Given the description of an element on the screen output the (x, y) to click on. 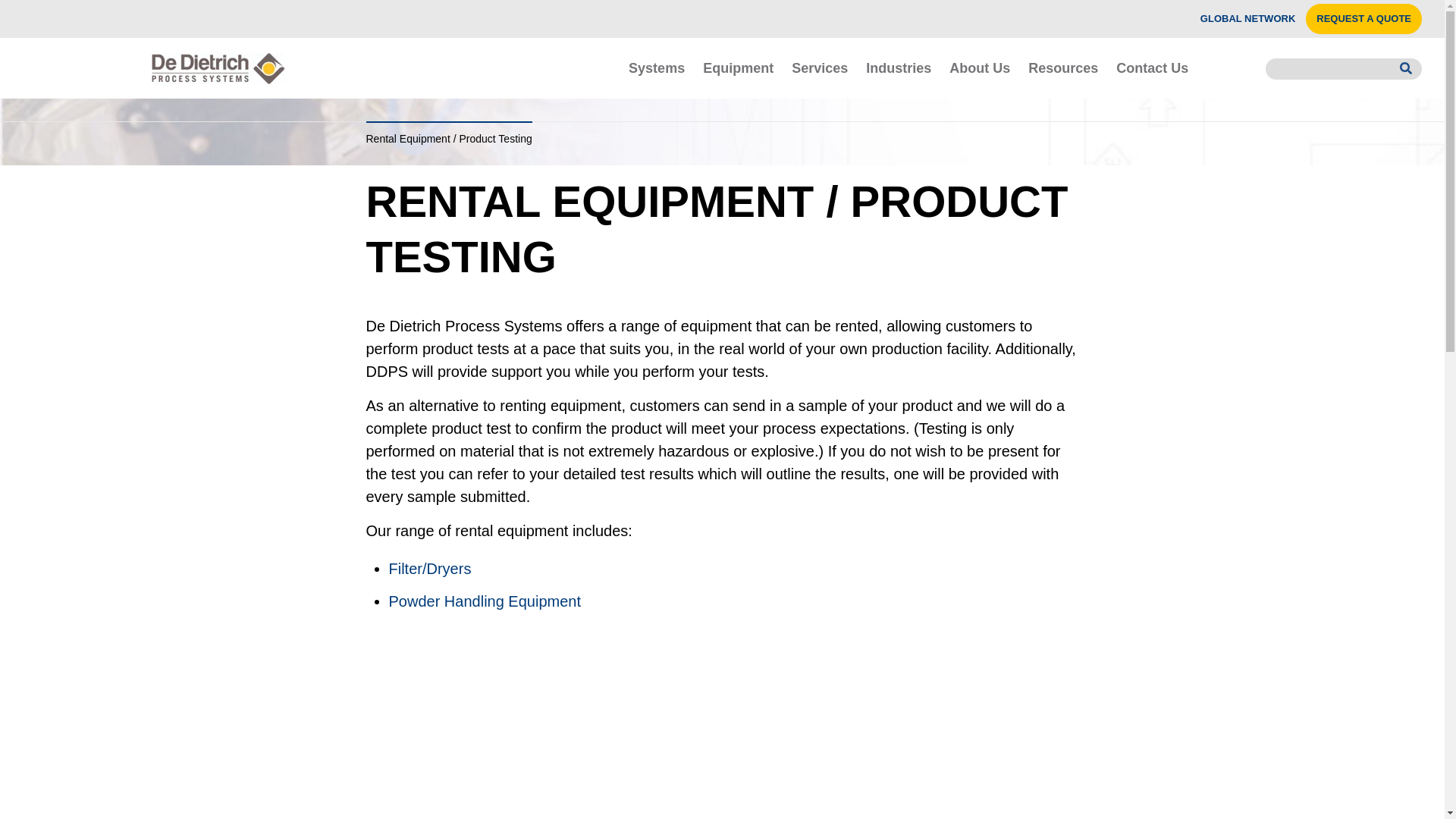
Equipment (738, 67)
GLOBAL NETWORK (1247, 19)
Systems (657, 67)
ddps-logo-md (218, 68)
REQUEST A QUOTE (1364, 19)
